Given the description of an element on the screen output the (x, y) to click on. 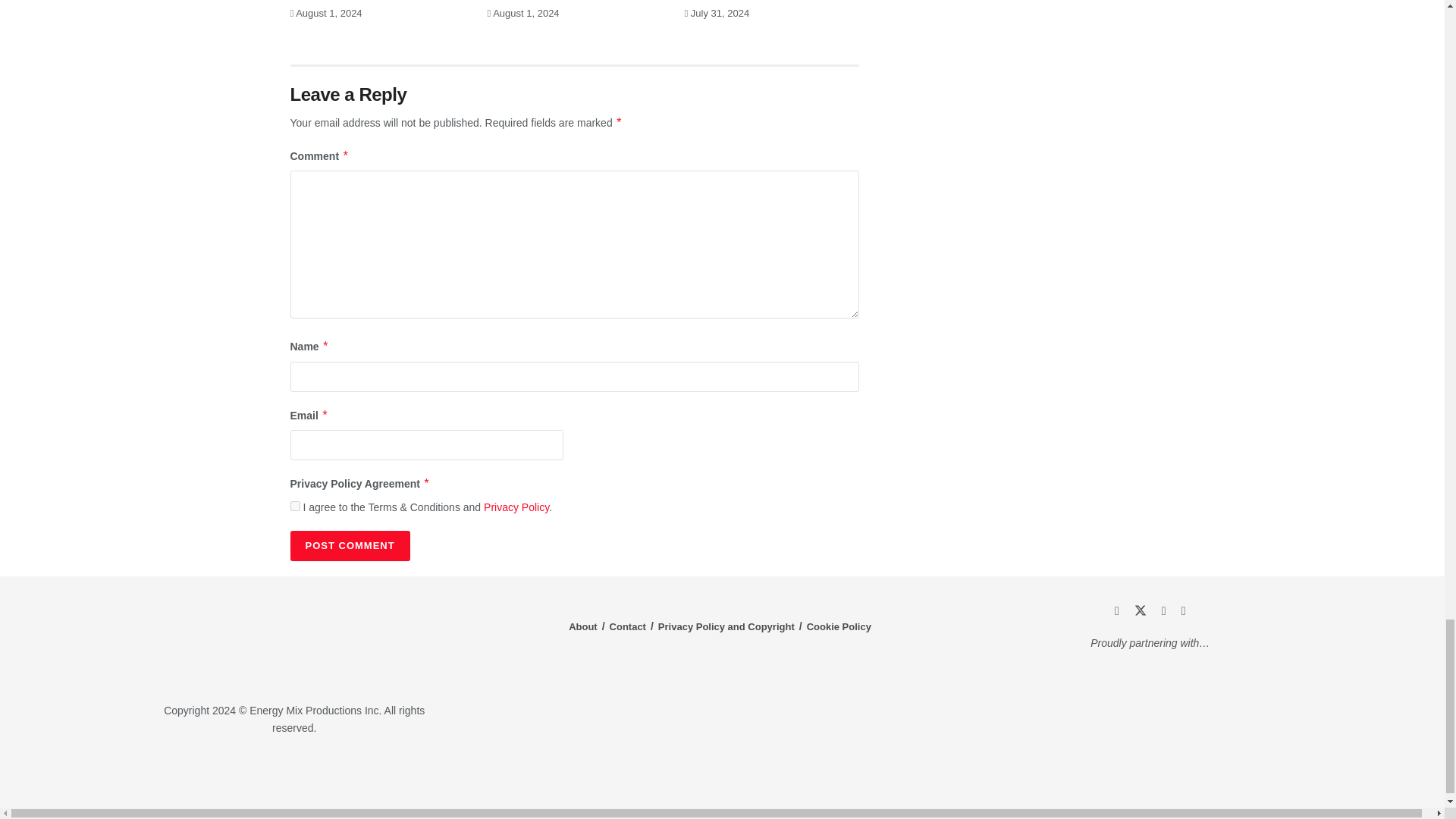
on (294, 506)
Post Comment (349, 545)
Climate-and-Capital (1221, 772)
tem-logo-2024 (294, 640)
